Given the description of an element on the screen output the (x, y) to click on. 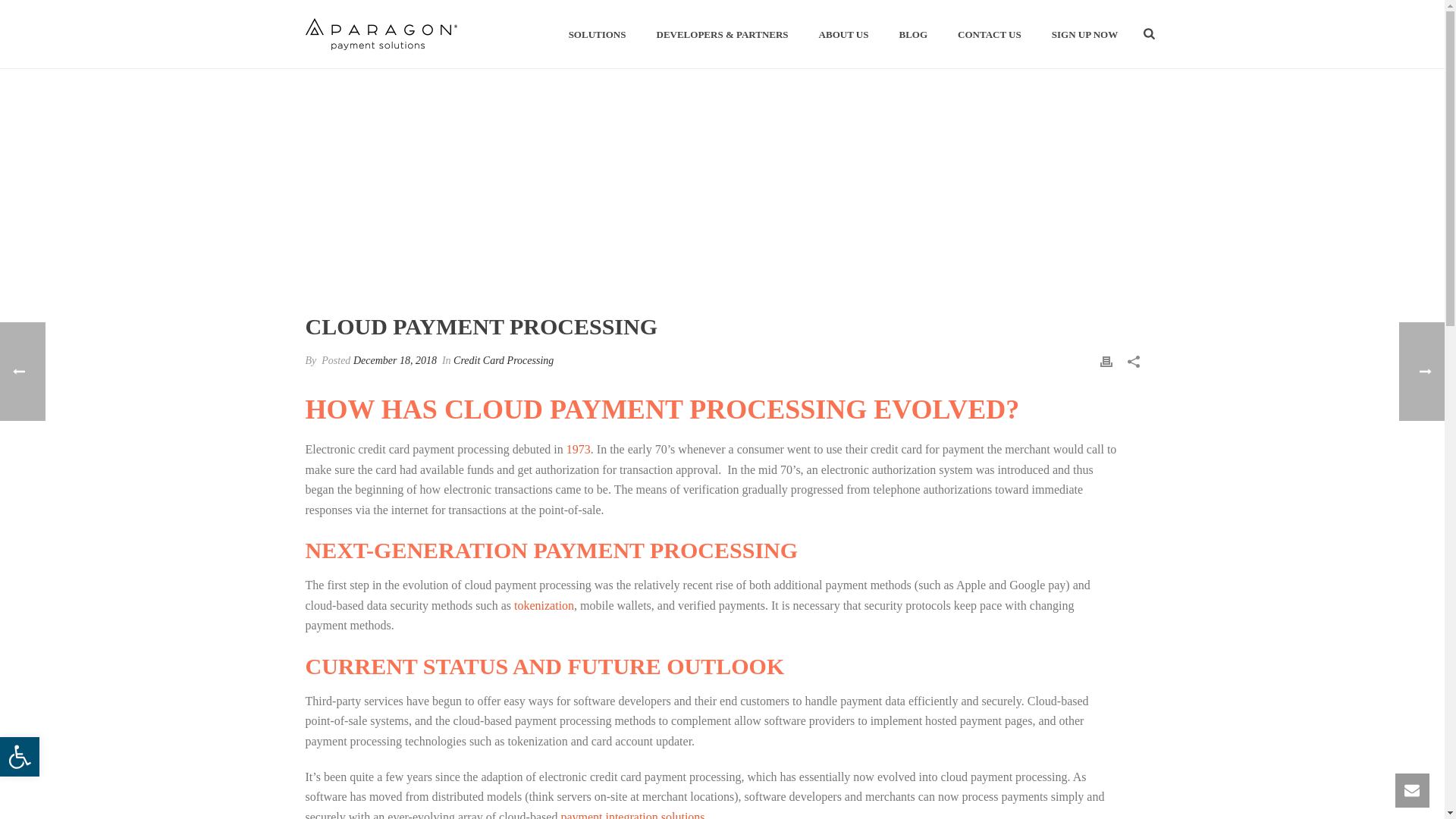
SIGN UP NOW (1084, 34)
BLOG (912, 34)
Accessibility Tools (19, 756)
Accessibility Tools (19, 756)
CONTACT US (989, 34)
CONTACT US (989, 34)
SOLUTIONS (597, 34)
BLOG (912, 34)
SIGN UP NOW (1084, 34)
SOLUTIONS (597, 34)
ABOUT US (843, 34)
Perfecting Integrated Payments (19, 756)
ABOUT US (380, 33)
